Given the description of an element on the screen output the (x, y) to click on. 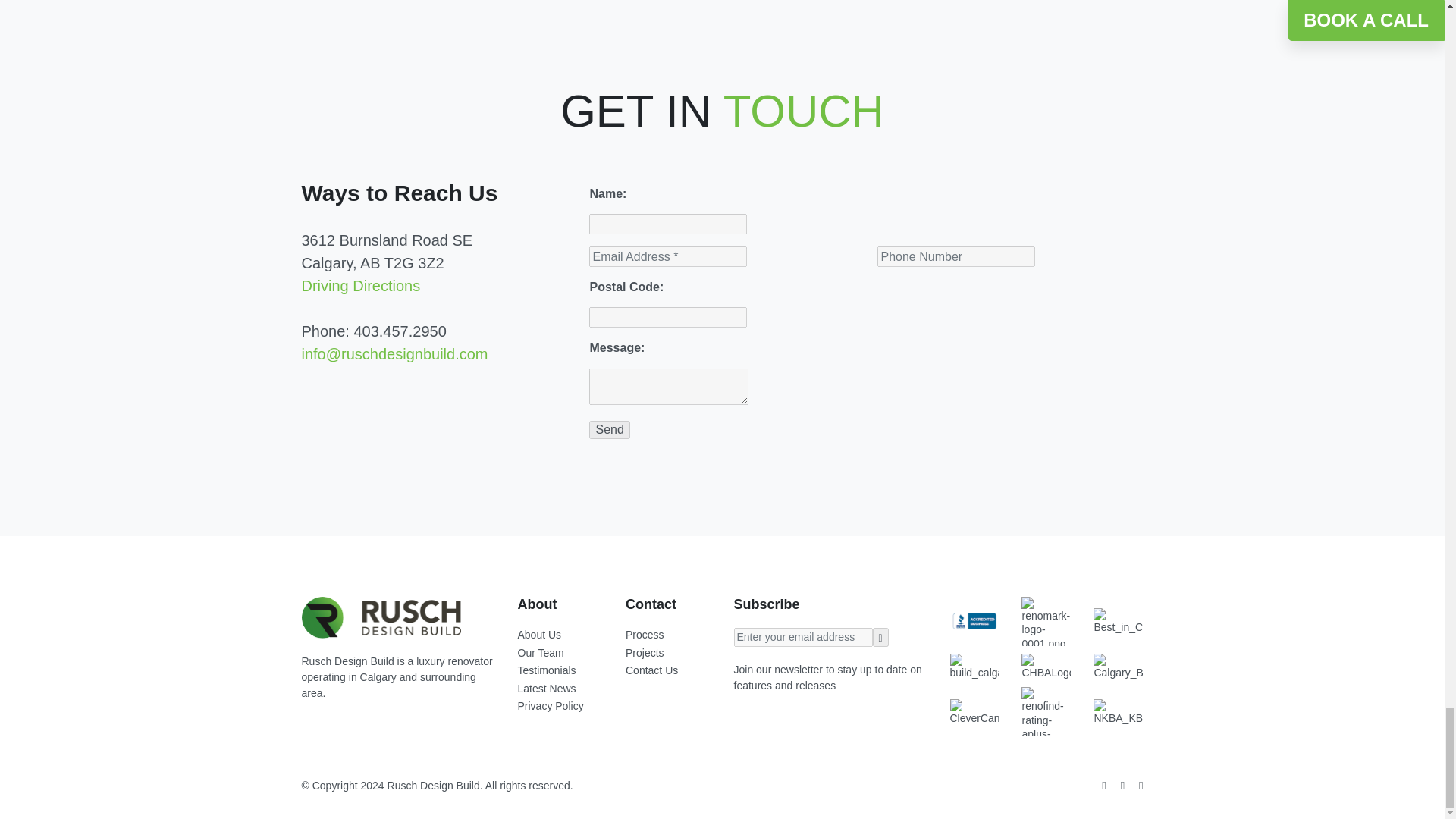
Contact Us (652, 670)
renofind-rating-aplus-294x165.png (1046, 711)
Postal Code (667, 317)
Send (608, 429)
About Us (538, 634)
Phone Number (956, 256)
renomark-logo-0001.png (1046, 621)
Email (802, 637)
Latest News (543, 688)
Driving Directions (360, 285)
Send (608, 429)
Message (668, 386)
BBB-Logo.png (973, 621)
Name (667, 223)
CleverCanadian.png (973, 711)
